Given the description of an element on the screen output the (x, y) to click on. 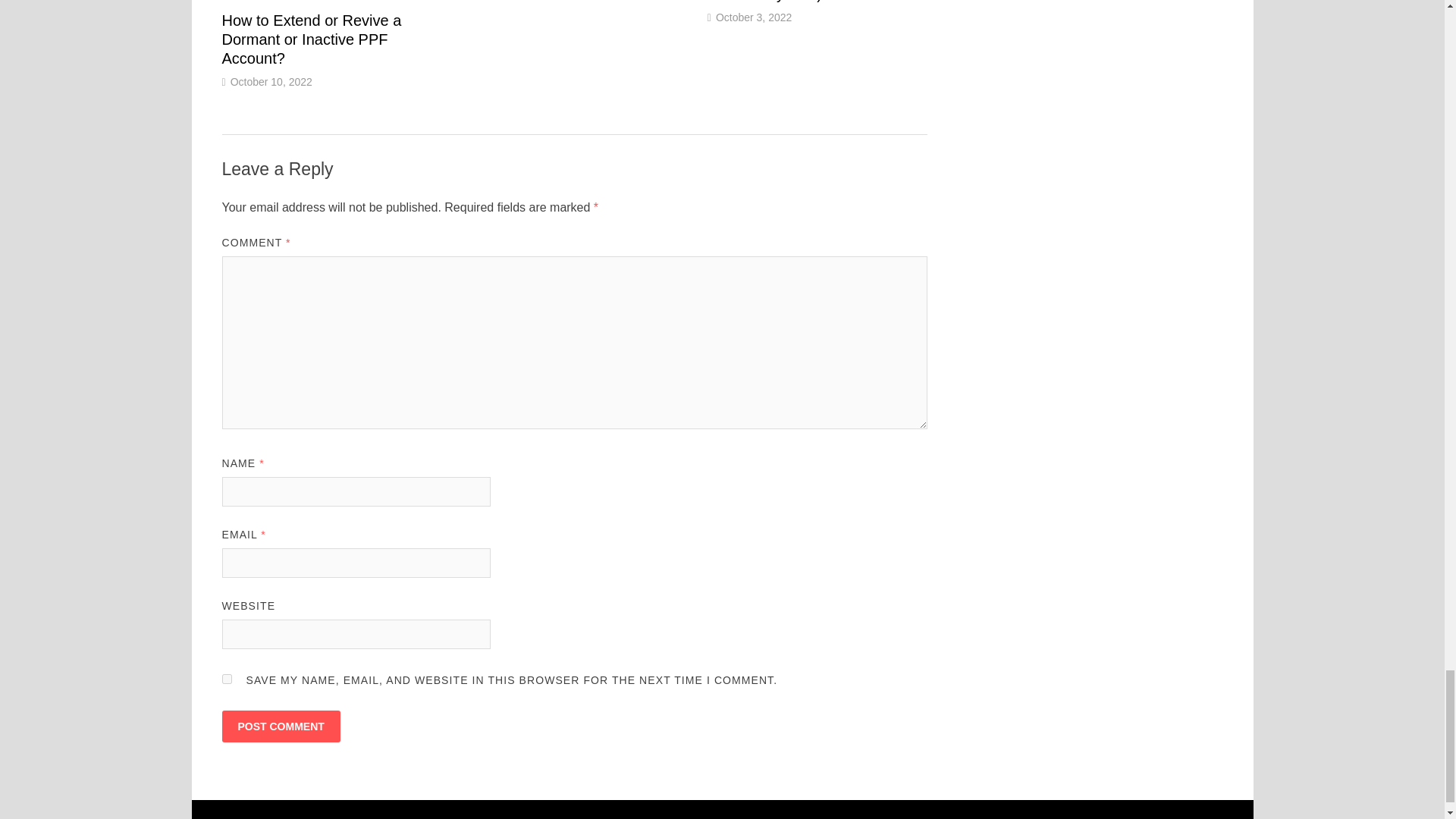
yes (226, 678)
Plan Your Finances (372, 818)
How to Extend or Revive a Dormant or Inactive PPF Account? (311, 39)
Post Comment (280, 726)
